Given the description of an element on the screen output the (x, y) to click on. 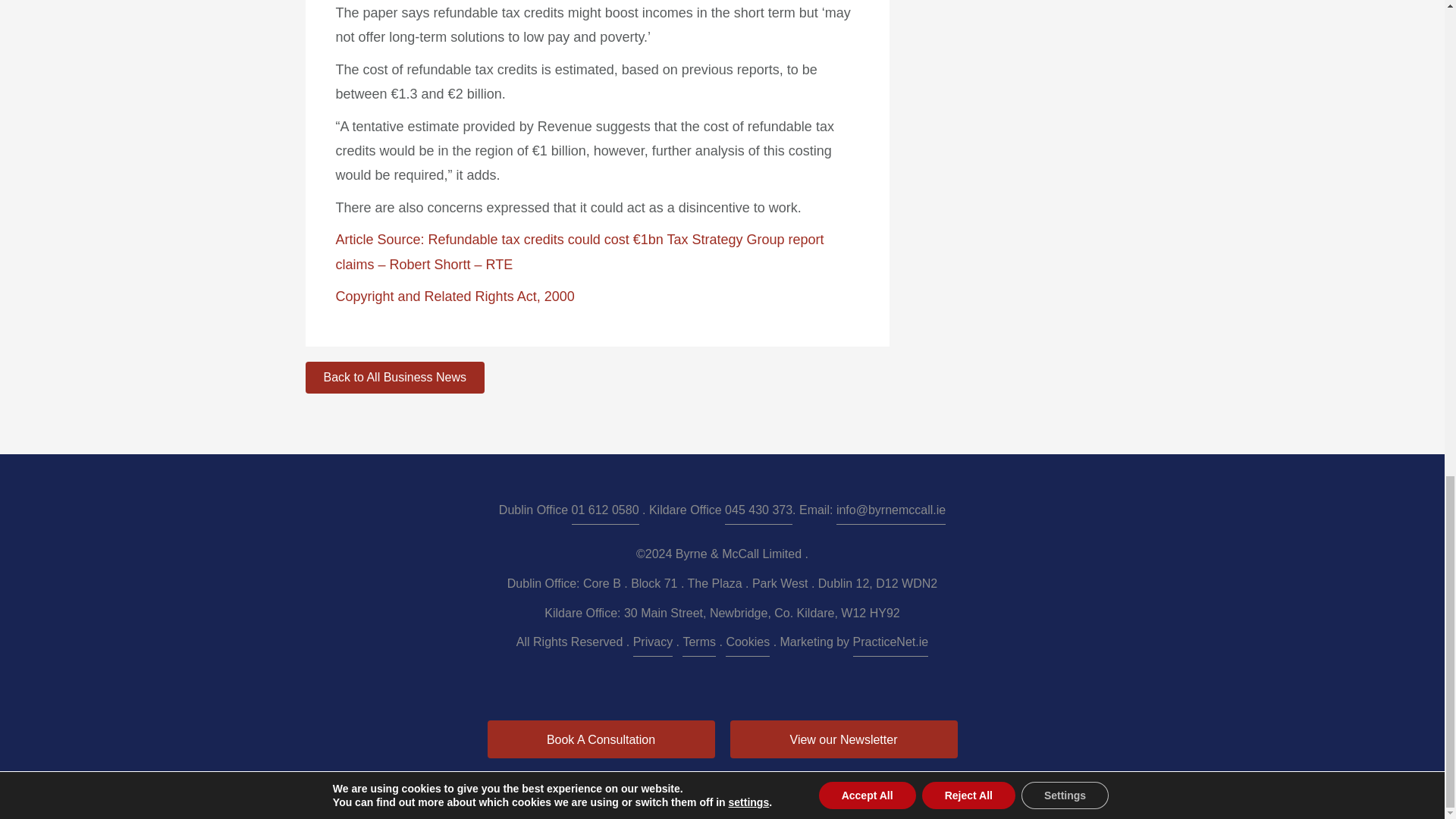
Back to All Business News (394, 377)
Privacy (652, 643)
01 612 0580 (605, 511)
Cookies (747, 643)
Copyright and Related Rights Act, 2000 (453, 296)
Terms (699, 643)
045 430 373 (758, 511)
PracticeNet.ie (890, 643)
